Given the description of an element on the screen output the (x, y) to click on. 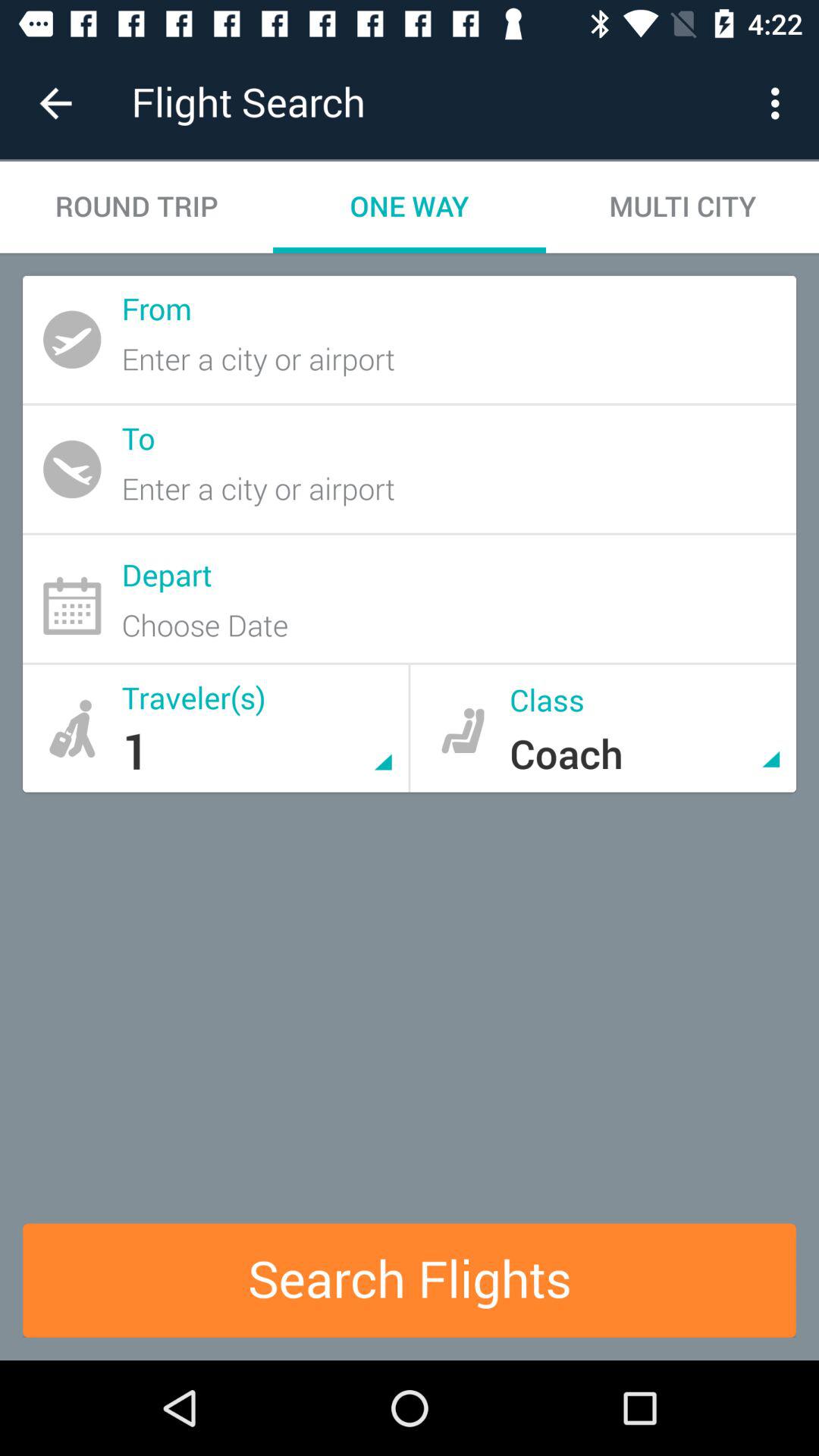
flip until one way (409, 207)
